Given the description of an element on the screen output the (x, y) to click on. 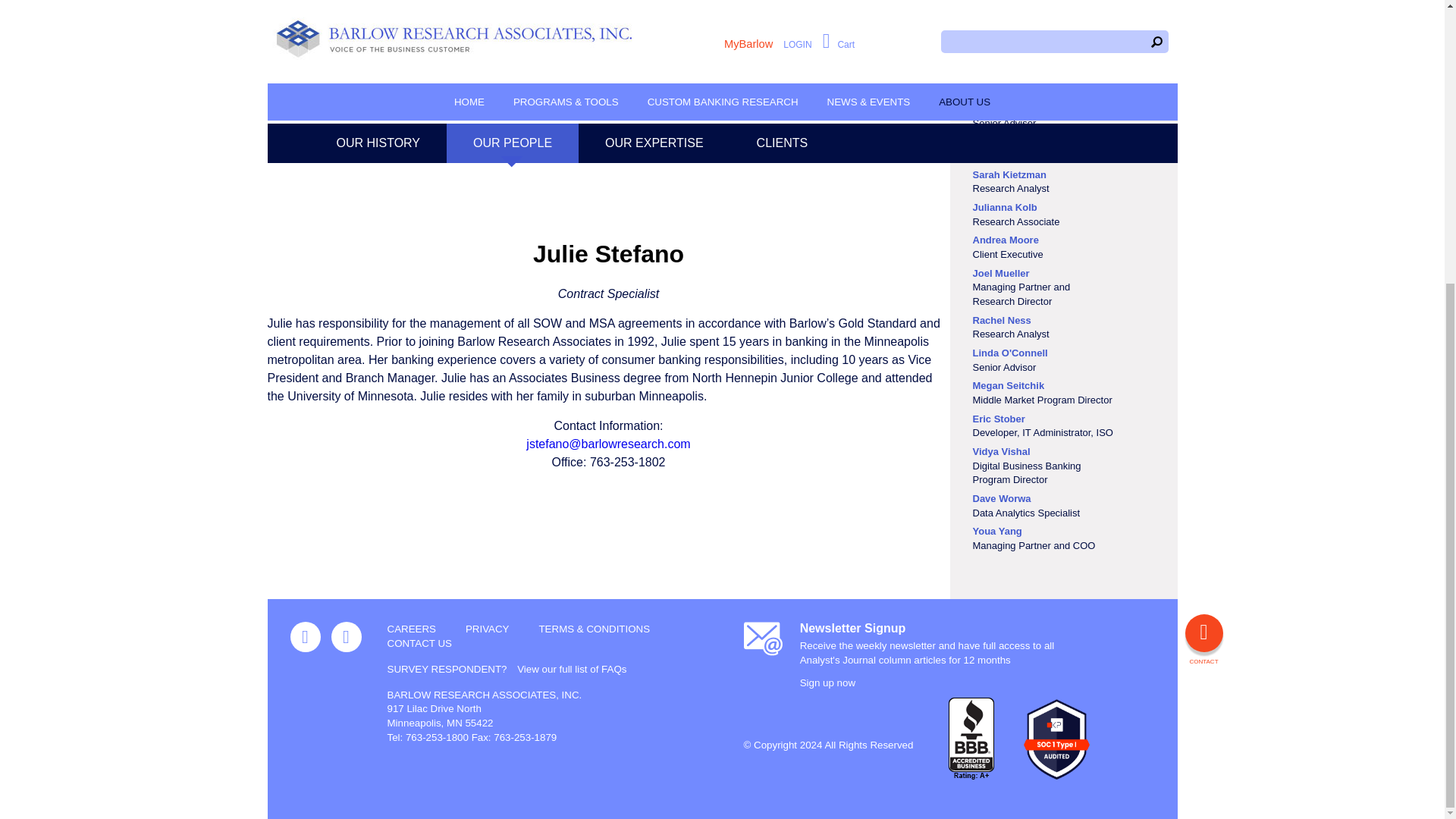
Sandy Hanson (1006, 61)
Nick Egner (997, 1)
Cassie Garcia (1004, 29)
